Given the description of an element on the screen output the (x, y) to click on. 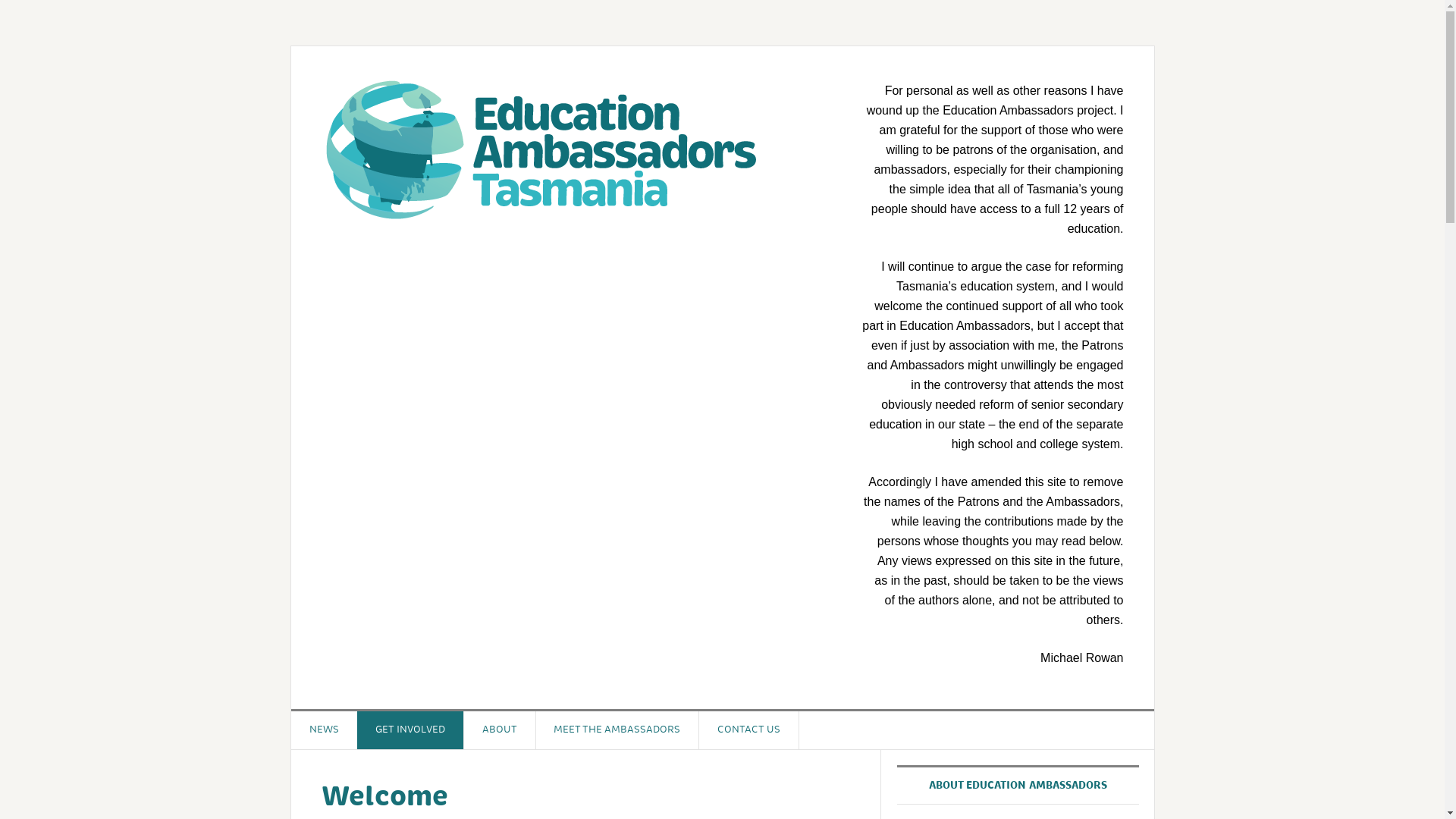
EDUCATION AMBASSADORS | TASMANIA Element type: text (541, 148)
MEET THE AMBASSADORS Element type: text (617, 730)
NEWS Element type: text (324, 730)
GET INVOLVED Element type: text (410, 730)
ABOUT Element type: text (500, 730)
CONTACT US Element type: text (749, 730)
